Given the description of an element on the screen output the (x, y) to click on. 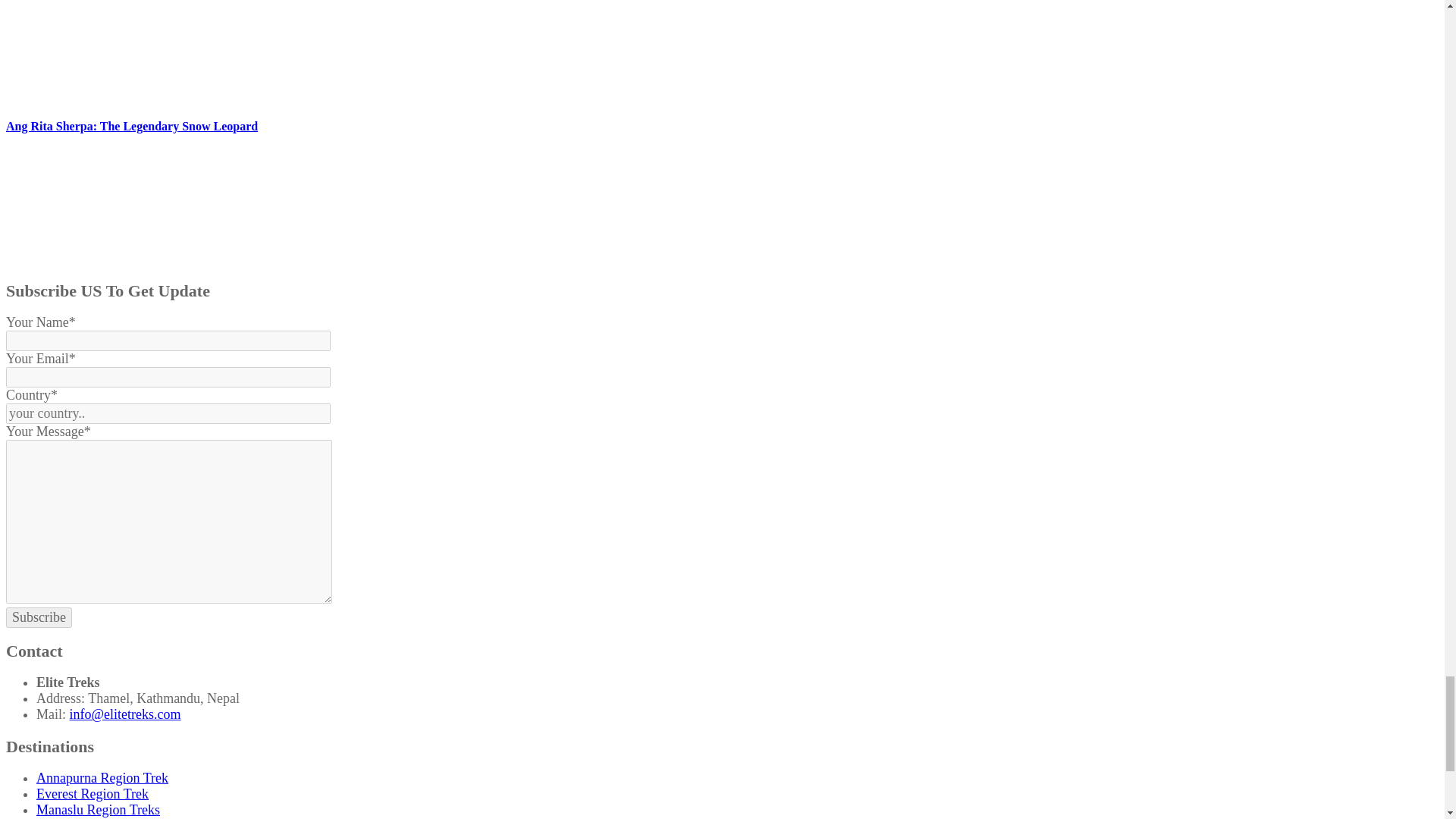
Ang Rita Sherpa: The Legendary Snow Leopard (118, 258)
Subscribe (38, 617)
Cultural and Natural Highlights of Nepal (118, 95)
